Given the description of an element on the screen output the (x, y) to click on. 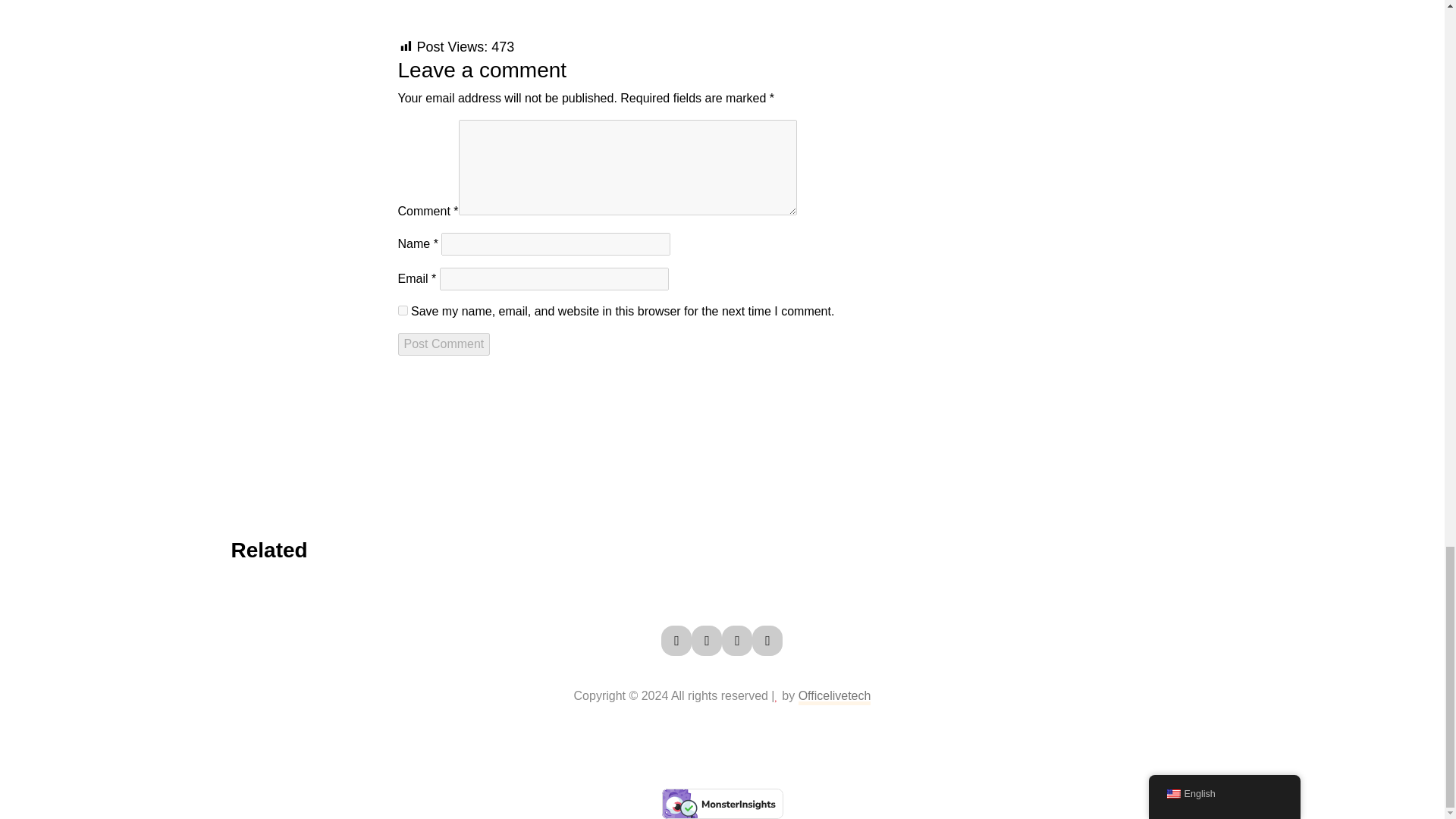
Post Comment (443, 343)
yes (402, 310)
Post Comment (443, 343)
Officelivetech (833, 696)
